Given the description of an element on the screen output the (x, y) to click on. 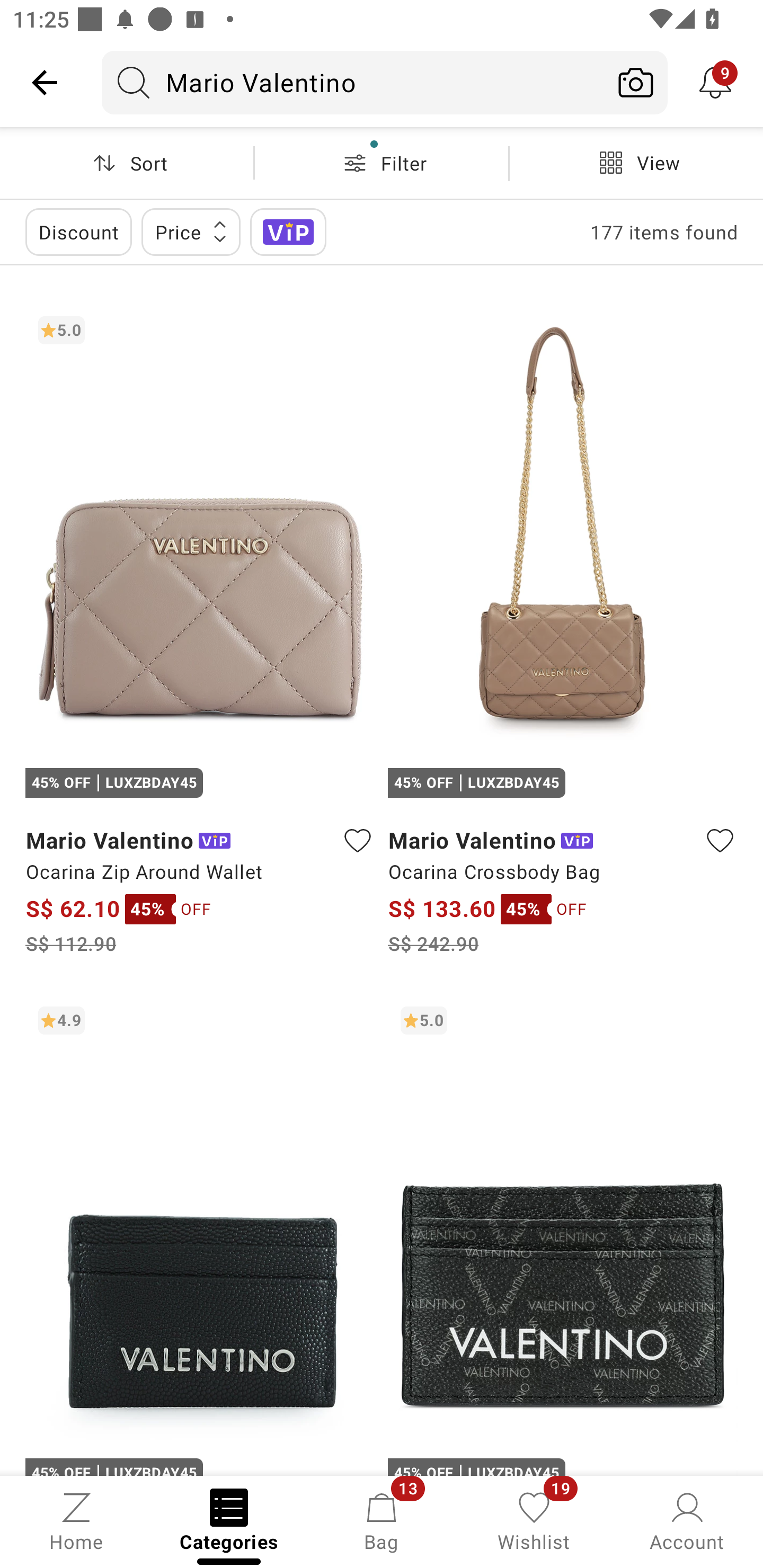
Navigate up (44, 82)
Mario Valentino (352, 82)
Sort (126, 163)
Filter (381, 163)
View (636, 163)
Discount (78, 231)
Price (190, 231)
4.9 45% OFF LUXZBDAY45 (200, 1234)
5.0 45% OFF LUXZBDAY45 (562, 1234)
Home (76, 1519)
Bag, 13 new notifications Bag (381, 1519)
Wishlist, 19 new notifications Wishlist (533, 1519)
Account (686, 1519)
